Given the description of an element on the screen output the (x, y) to click on. 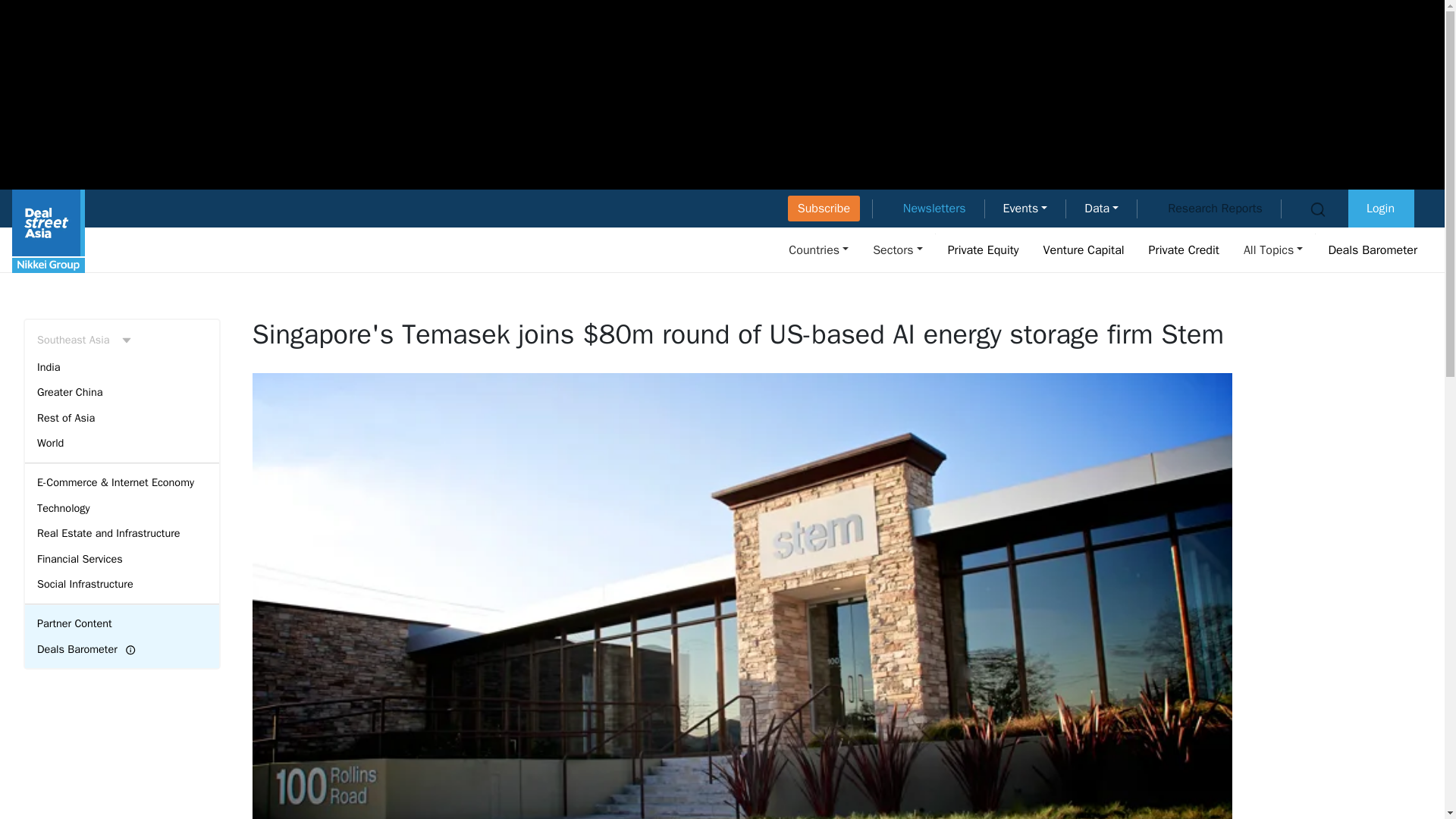
Events (1025, 208)
India (121, 367)
Newsletters (934, 208)
Sectors (897, 250)
Greater China (121, 392)
Subscribe (823, 208)
Private Equity (983, 250)
Venture Capital (1083, 250)
Private Credit (1183, 250)
Login (1379, 208)
